Given the description of an element on the screen output the (x, y) to click on. 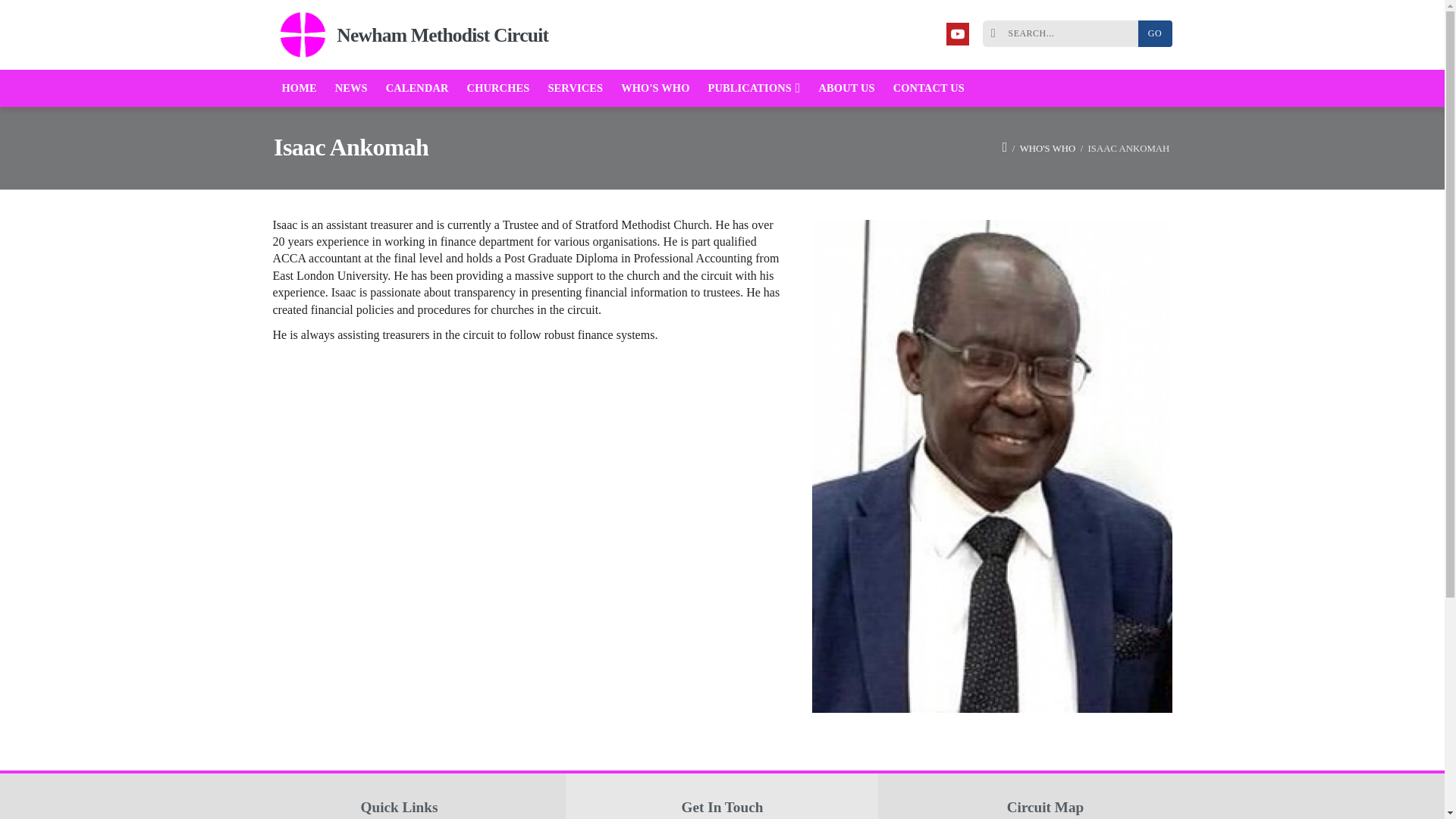
PUBLICATIONS (753, 88)
Visit our YouTube Channel (957, 33)
WHO'S WHO (654, 88)
ABOUT US (846, 88)
CONTACT US (928, 88)
SERVICES (574, 88)
GO (1154, 33)
HOME (299, 88)
CALENDAR (417, 88)
CHURCHES (498, 88)
SEARCH... (1064, 33)
WHO'S WHO (1047, 147)
NEWS (351, 88)
